Given the description of an element on the screen output the (x, y) to click on. 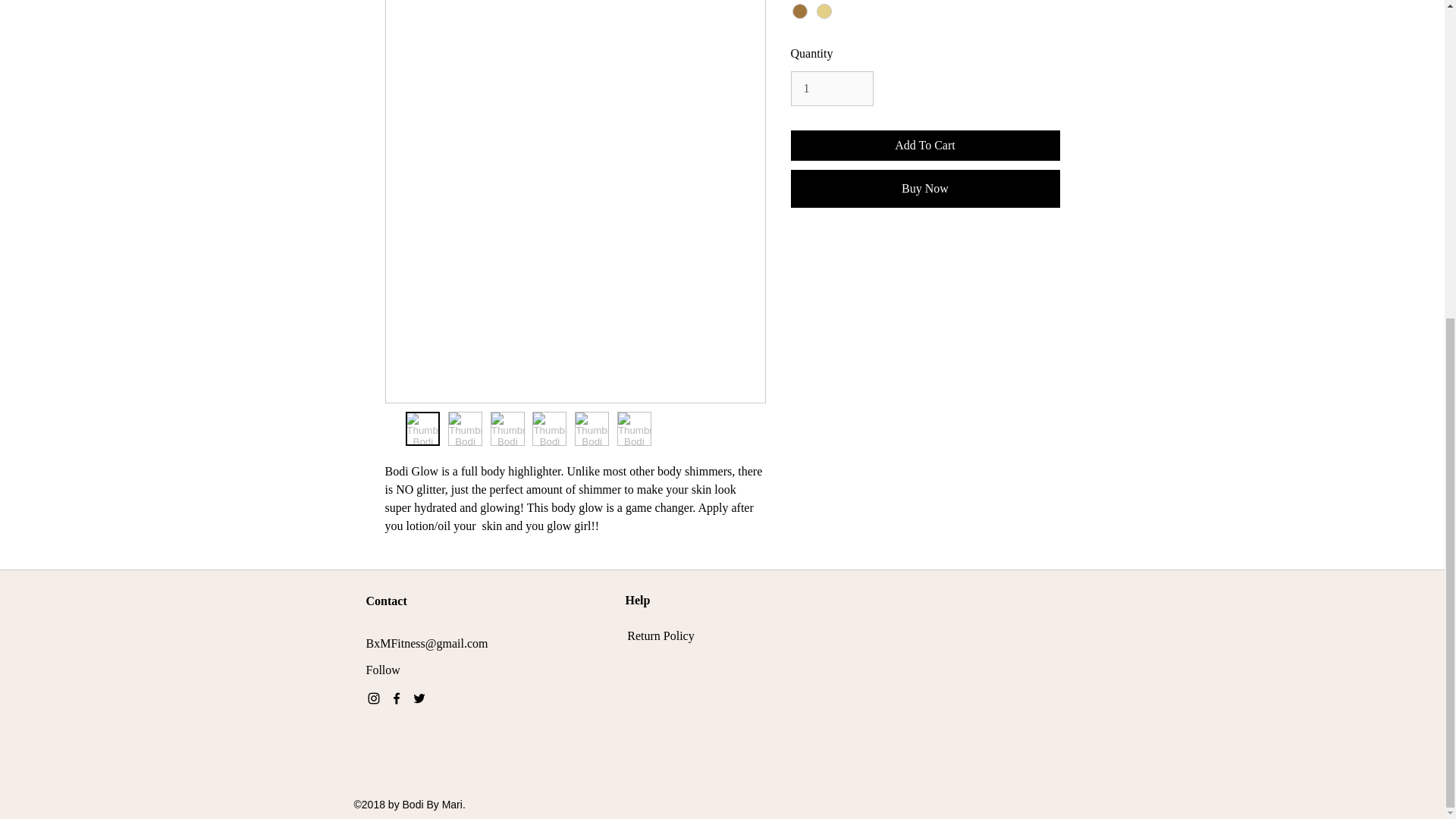
Buy Now (924, 188)
1 (831, 88)
Add To Cart (924, 145)
Return Policy (660, 635)
